Given the description of an element on the screen output the (x, y) to click on. 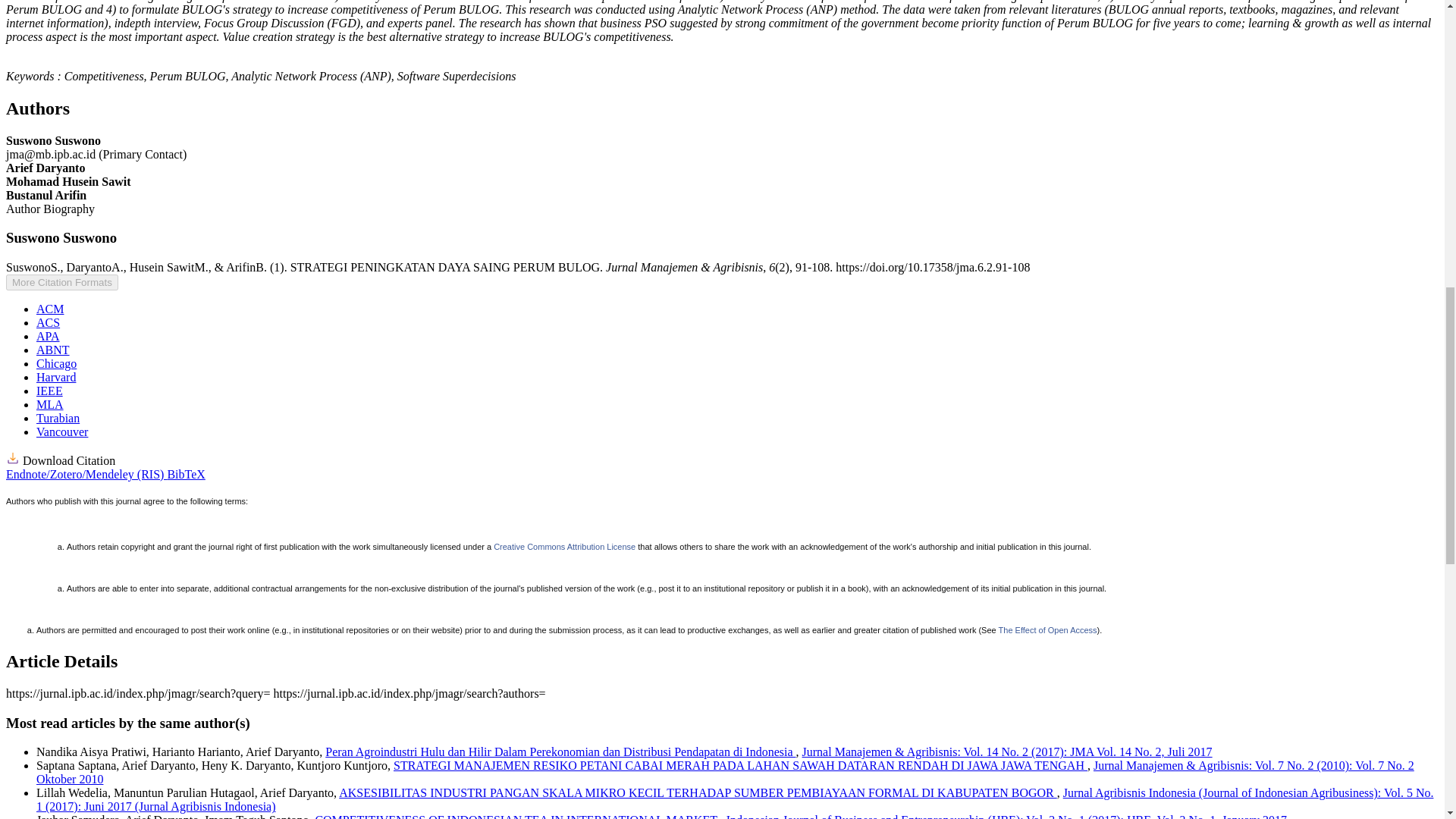
MLA (50, 404)
ACS (47, 322)
ABNT (52, 349)
Chicago (56, 363)
ACM (50, 308)
Harvard (55, 377)
IEEE (49, 390)
More Citation Formats (61, 282)
APA (47, 336)
